Given the description of an element on the screen output the (x, y) to click on. 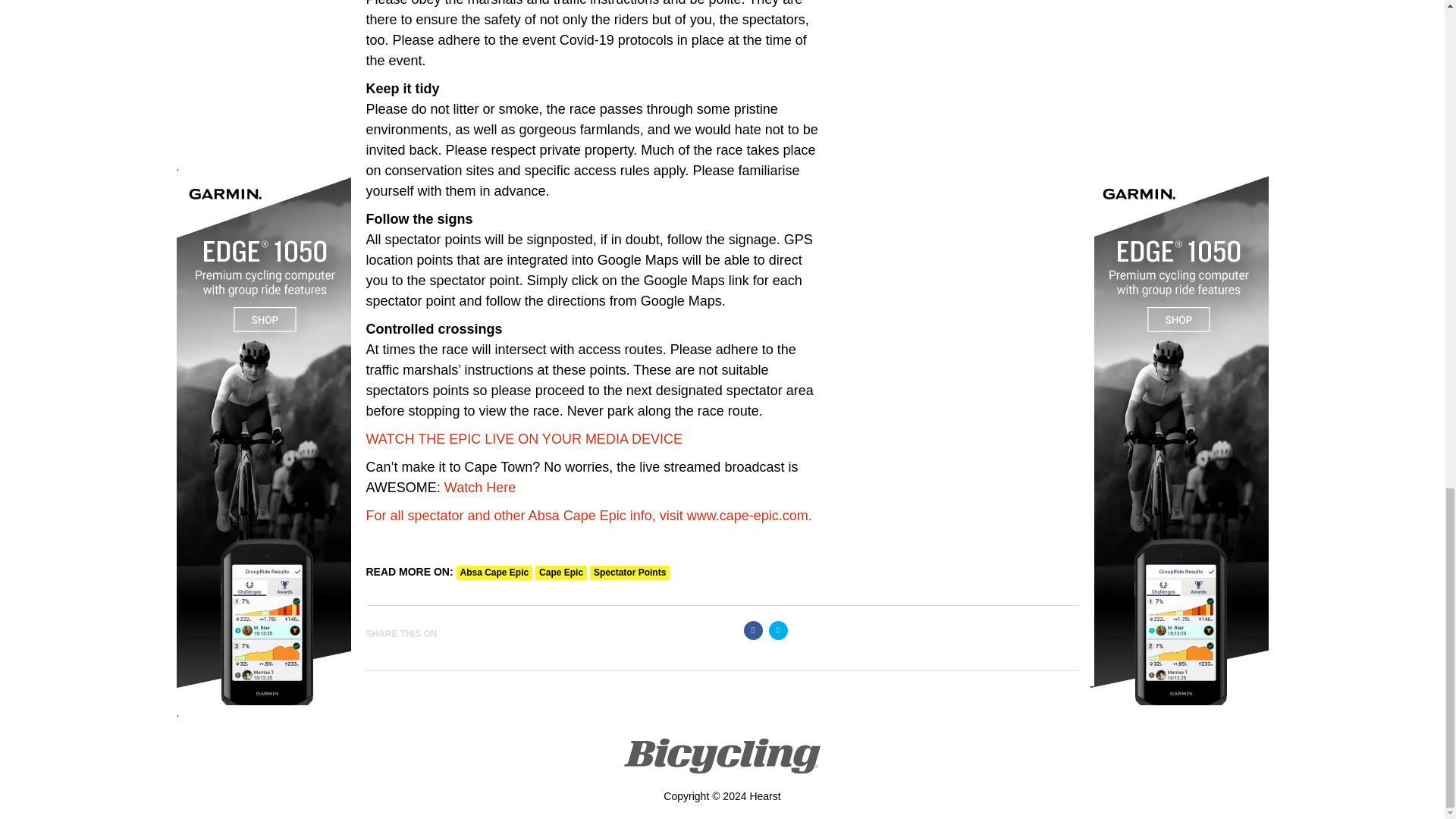
Watch Here (479, 487)
WATCH THE EPIC LIVE ON YOUR MEDIA DEVICE (523, 438)
Absa Cape Epic (494, 572)
absa cape epic (494, 572)
Cape Epic (560, 572)
Spectator Points (629, 572)
spectator points (629, 572)
Cape Epic (560, 572)
